Given the description of an element on the screen output the (x, y) to click on. 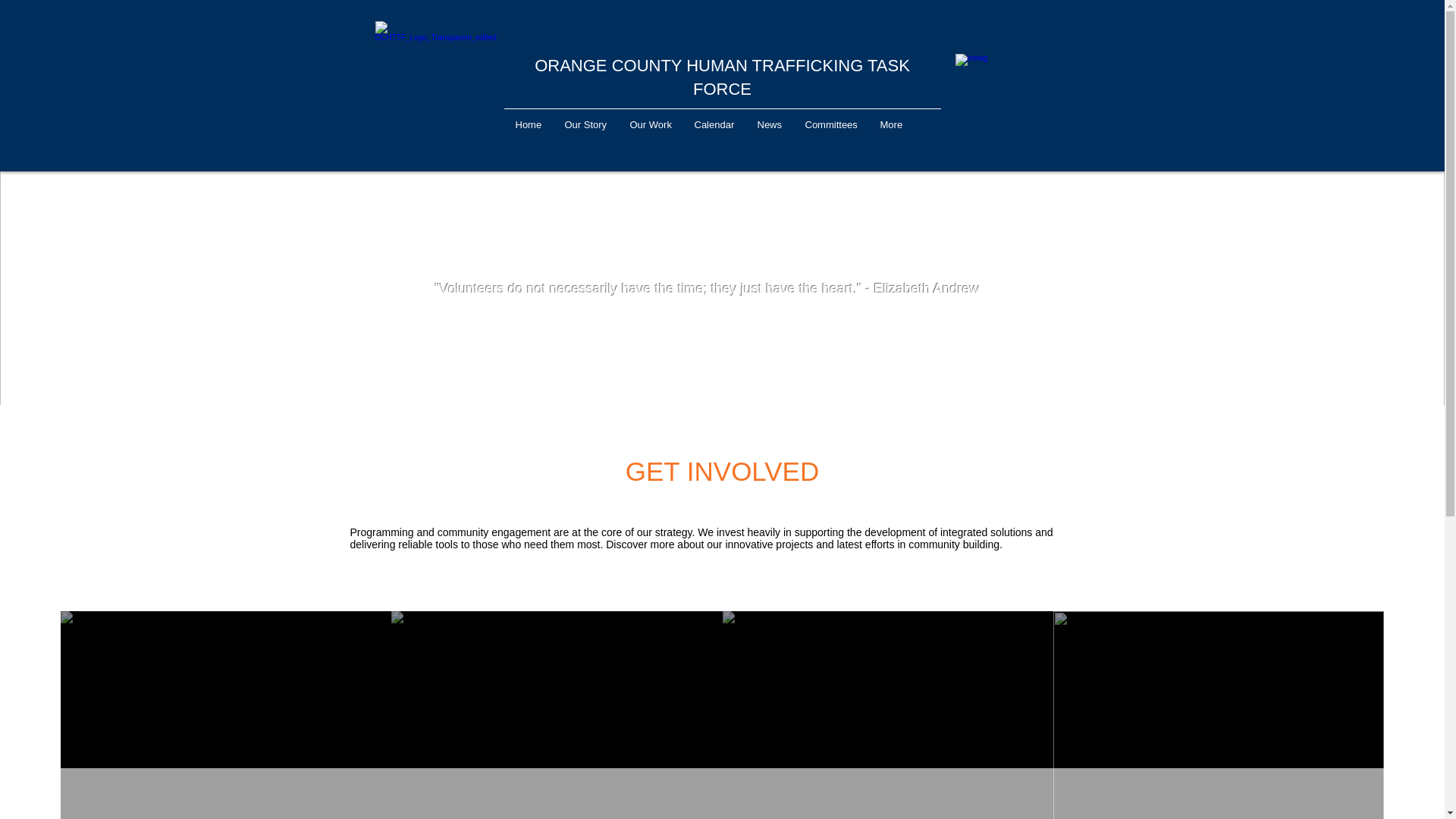
Our Work (650, 124)
Calendar (713, 124)
Committees (830, 124)
Our Story (585, 124)
ORANGE COUNTY HUMAN TRAFFICKING TASK FORCE (722, 77)
Home (528, 124)
News (769, 124)
